Given the description of an element on the screen output the (x, y) to click on. 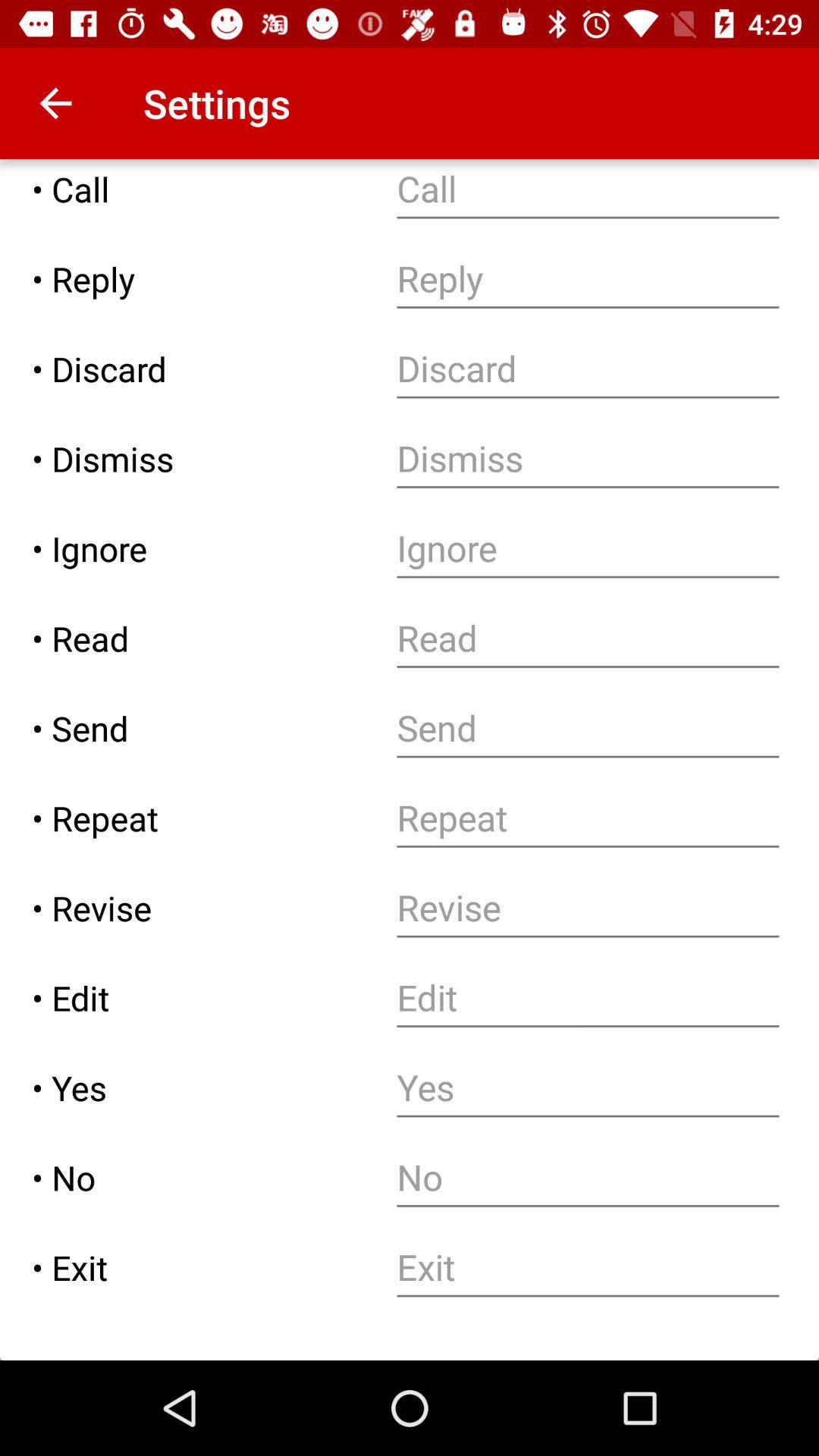
input the word edit (588, 998)
